Given the description of an element on the screen output the (x, y) to click on. 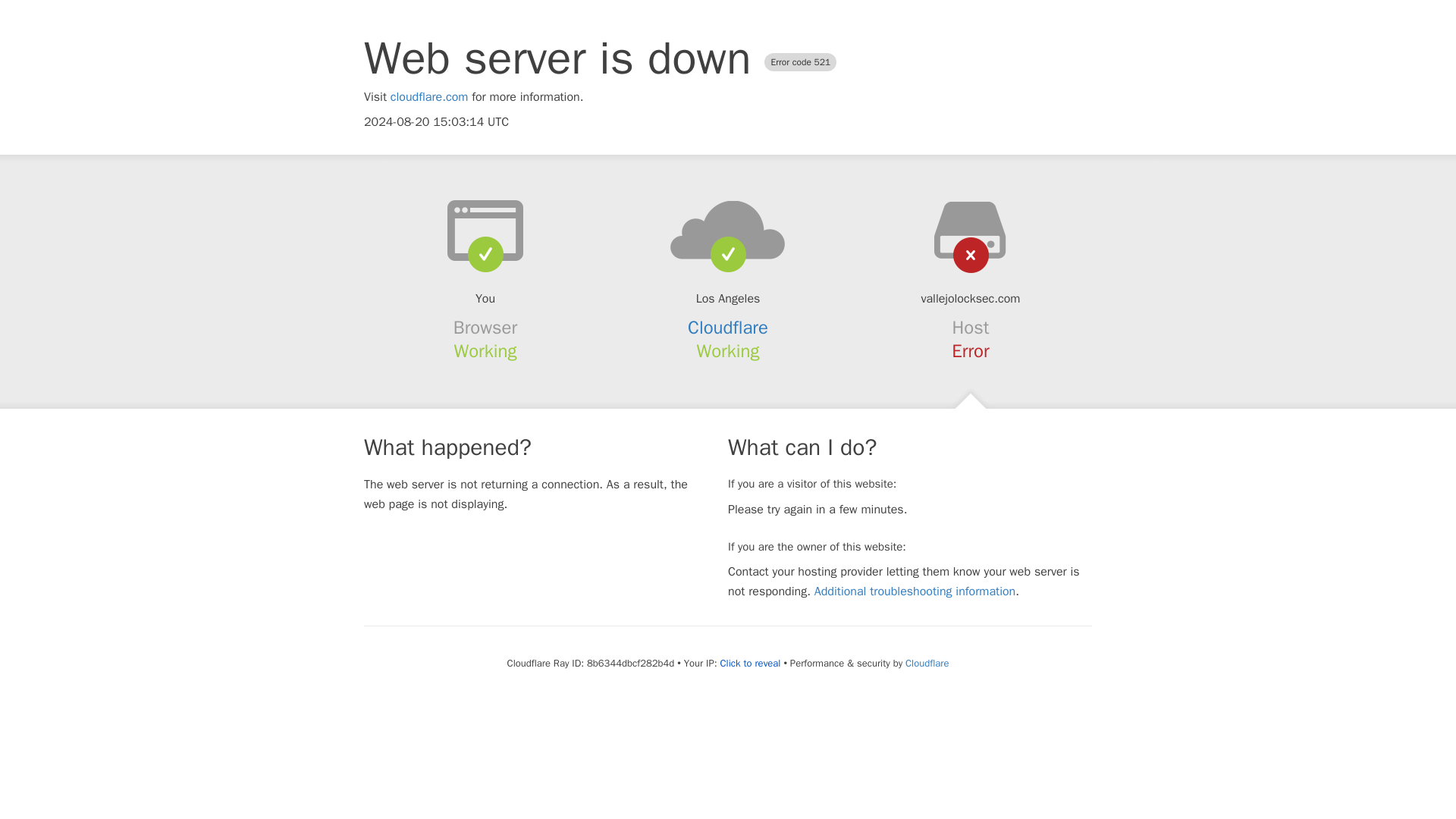
Cloudflare (927, 662)
Cloudflare (727, 327)
Additional troubleshooting information (913, 590)
Click to reveal (750, 663)
cloudflare.com (429, 96)
